Given the description of an element on the screen output the (x, y) to click on. 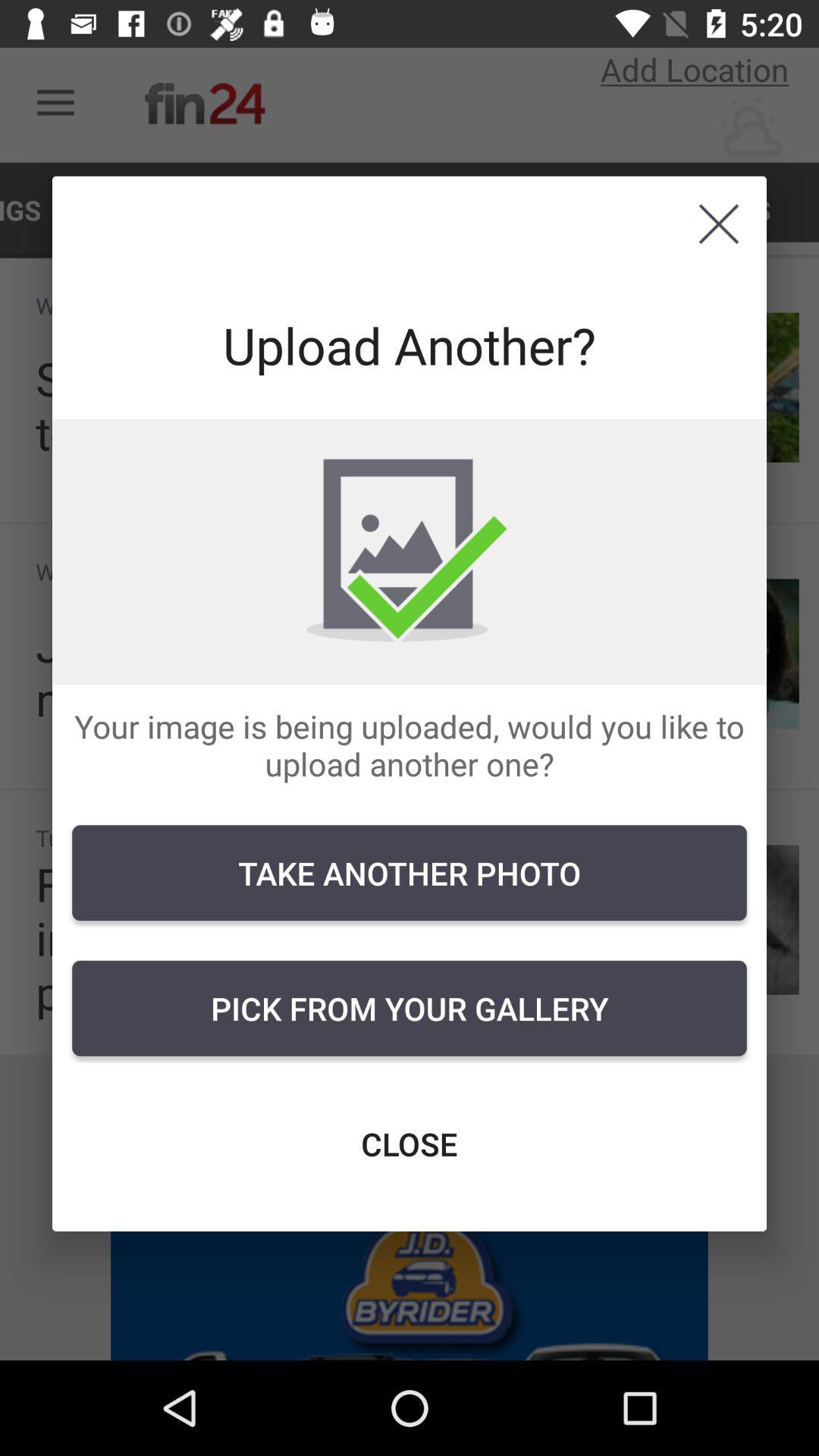
close upload dialog (718, 223)
